Given the description of an element on the screen output the (x, y) to click on. 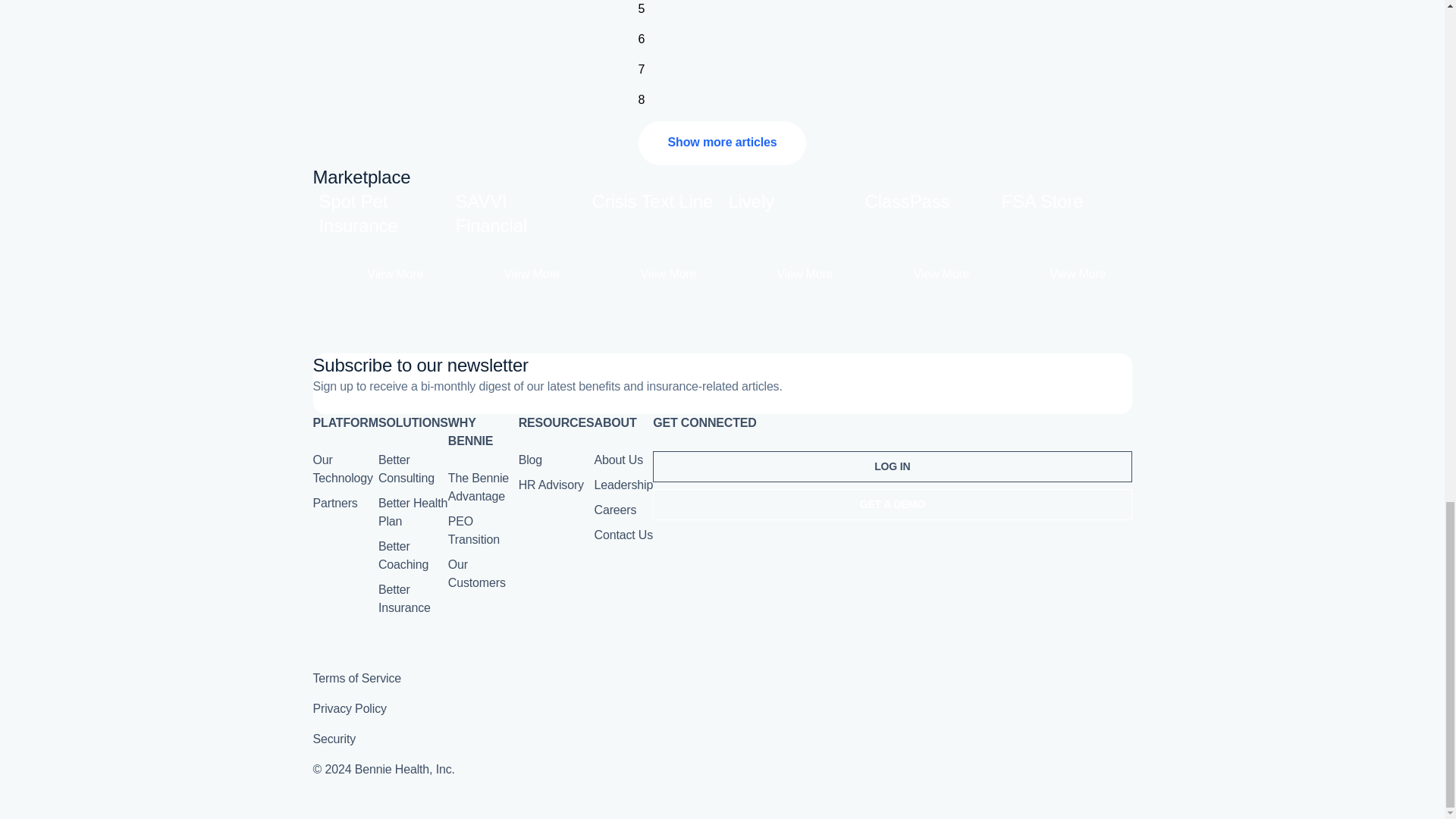
Better Coaching (403, 554)
PEO Transition (473, 530)
Show more articles (380, 240)
Blog (722, 143)
Better Health Plan (642, 38)
Better Consulting (529, 459)
The Bennie Advantage (412, 511)
Our Technology (653, 240)
Better Insurance (405, 468)
